Given the description of an element on the screen output the (x, y) to click on. 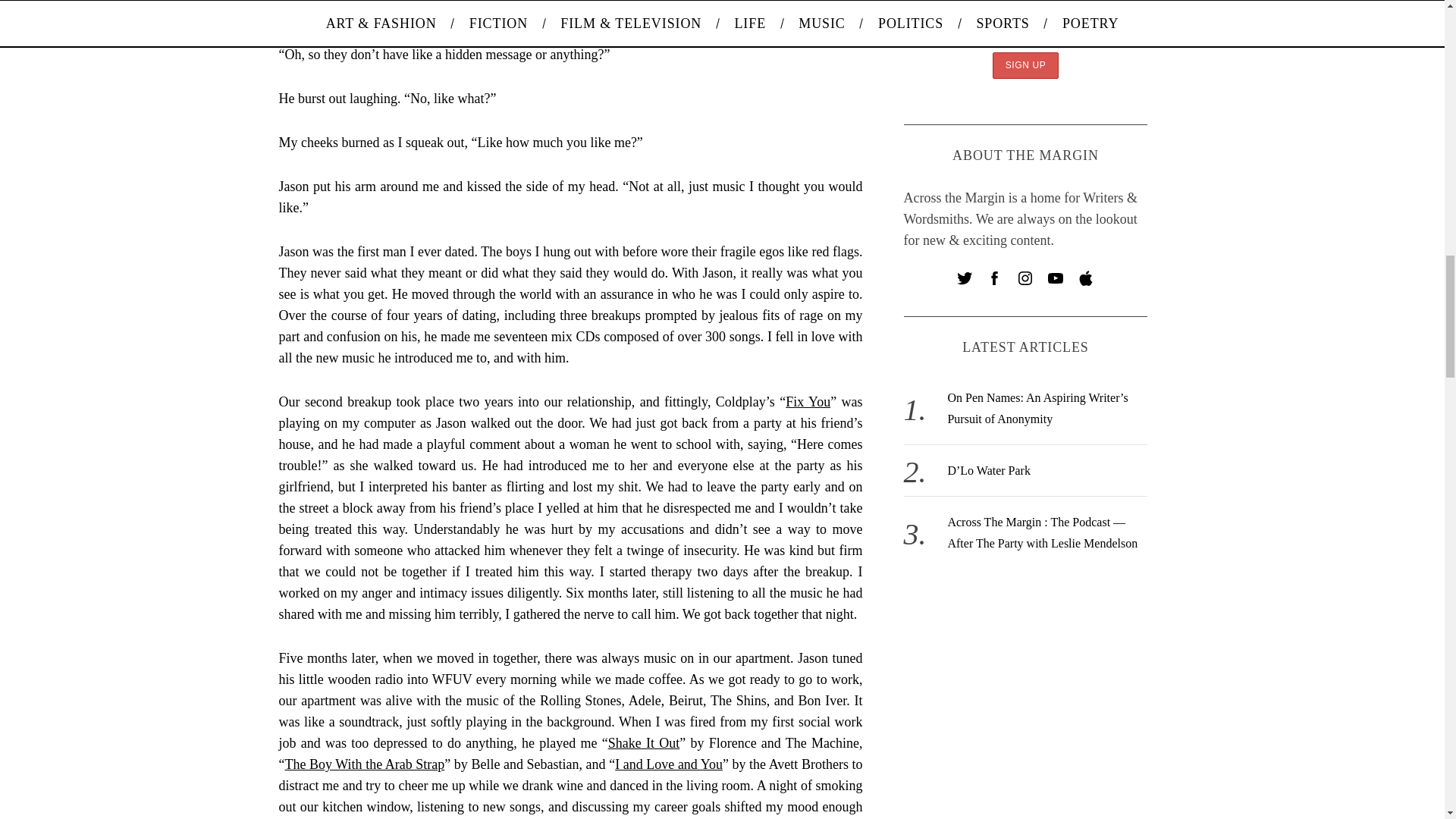
The Boy With the Arab Strap (365, 764)
Shake It Out (643, 743)
Sign up (1025, 65)
Fix You (807, 401)
I and Love and You (668, 764)
